Given the description of an element on the screen output the (x, y) to click on. 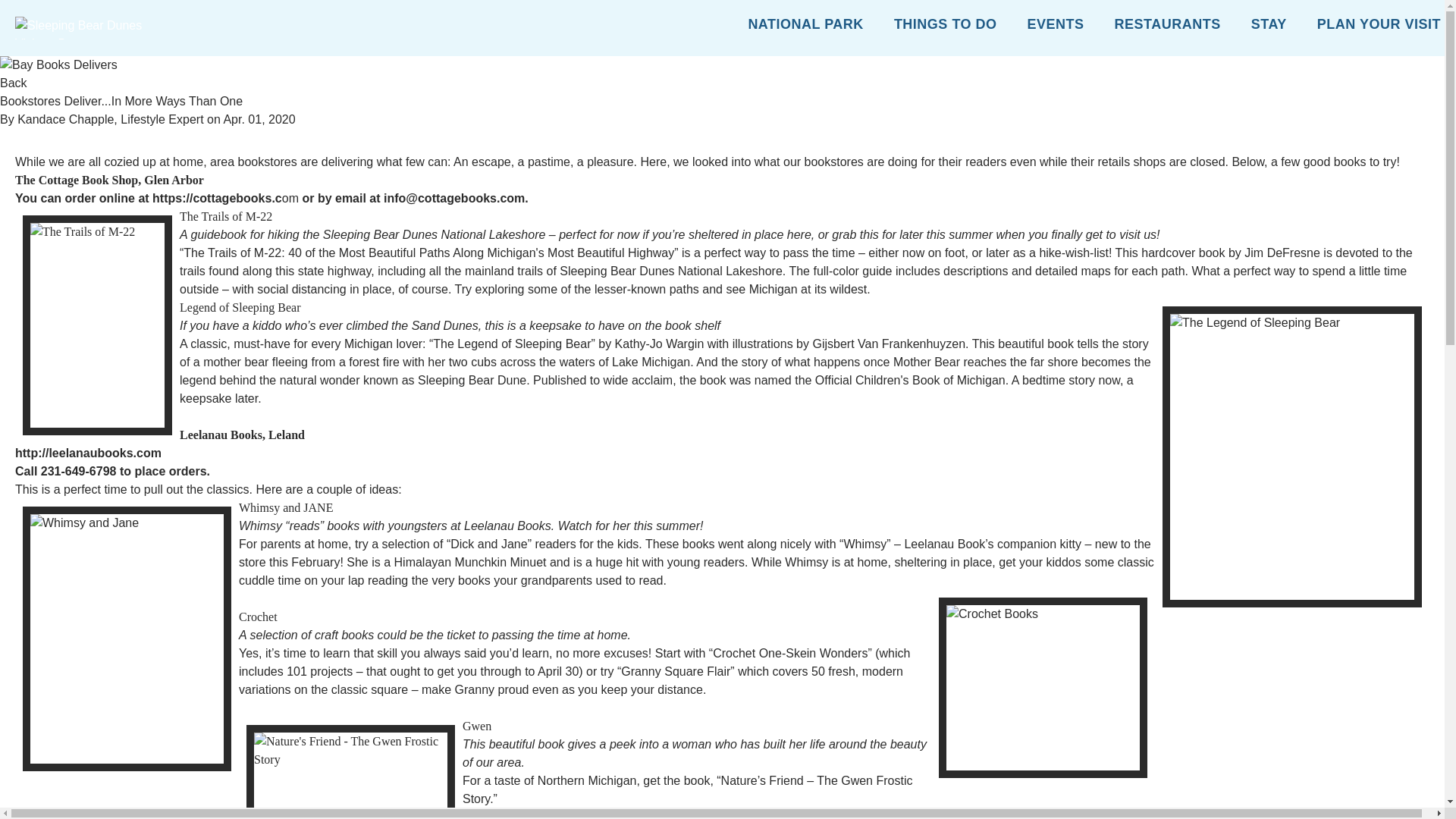
EVENTS (1055, 28)
STAY (1268, 28)
THINGS TO DO (945, 28)
RESTAURANTS (1167, 28)
NATIONAL PARK (805, 28)
